Given the description of an element on the screen output the (x, y) to click on. 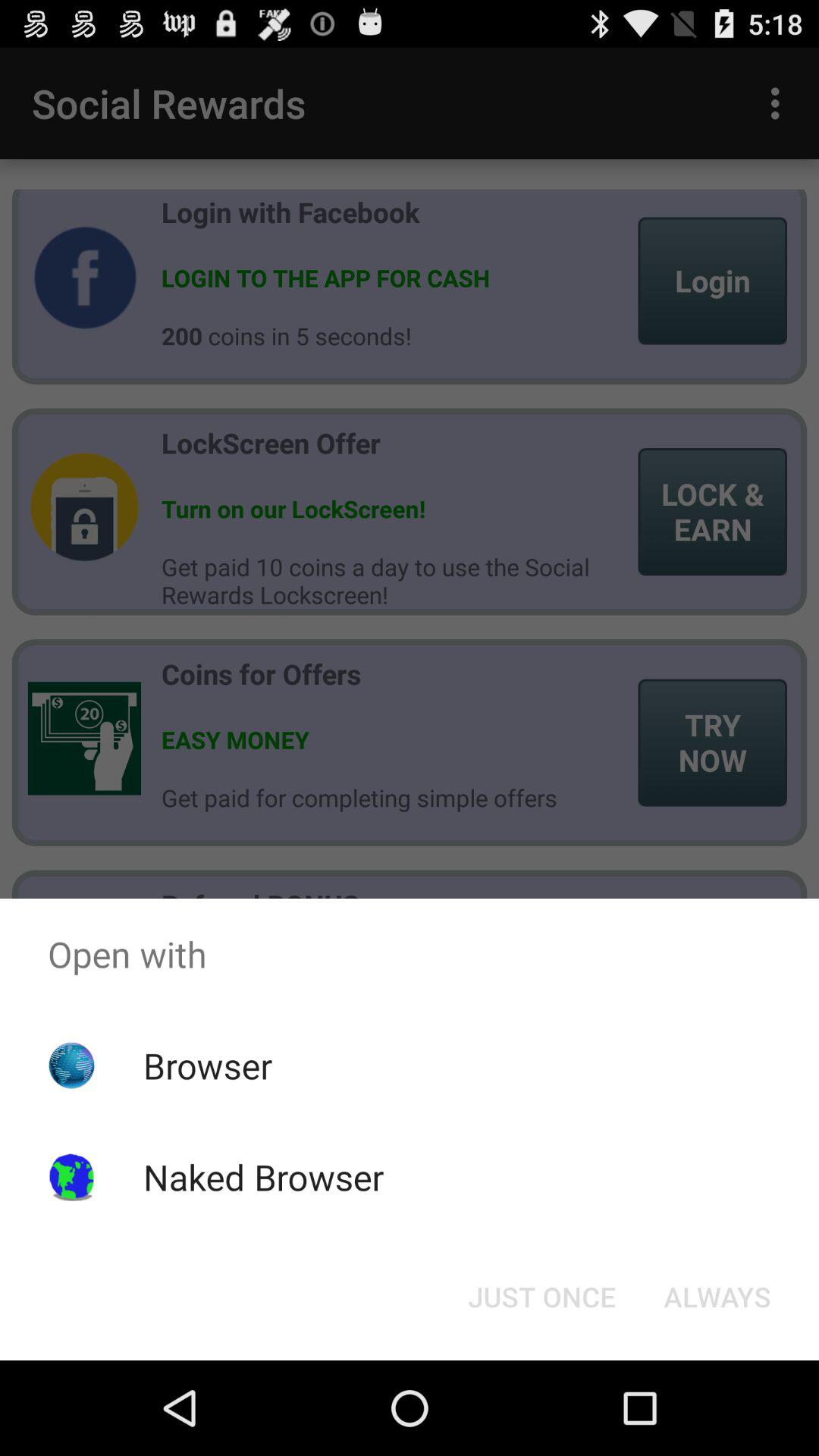
select icon at the bottom (541, 1296)
